Given the description of an element on the screen output the (x, y) to click on. 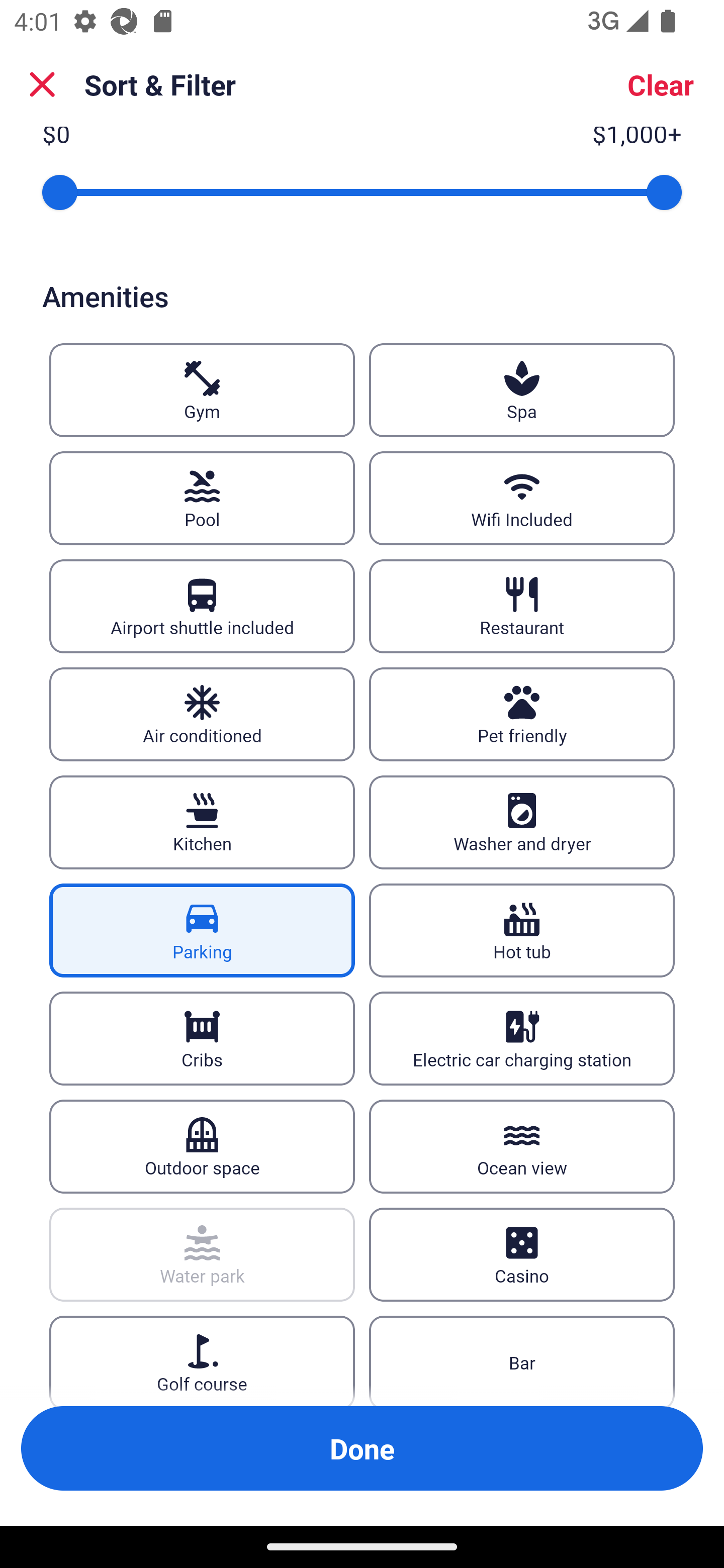
Close Sort and Filter (42, 84)
Clear (660, 84)
Gym (201, 390)
Spa (521, 390)
Pool (201, 498)
Wifi Included (521, 498)
Airport shuttle included (201, 606)
Restaurant (521, 606)
Air conditioned (201, 714)
Pet friendly (521, 714)
Kitchen (201, 822)
Washer and dryer (521, 822)
Parking (201, 929)
Hot tub (521, 929)
Cribs (201, 1037)
Electric car charging station (521, 1037)
Outdoor space (201, 1146)
Ocean view (521, 1146)
Water park (201, 1254)
Casino (521, 1254)
Golf course (201, 1360)
Bar (521, 1360)
Apply and close Sort and Filter Done (361, 1448)
